Given the description of an element on the screen output the (x, y) to click on. 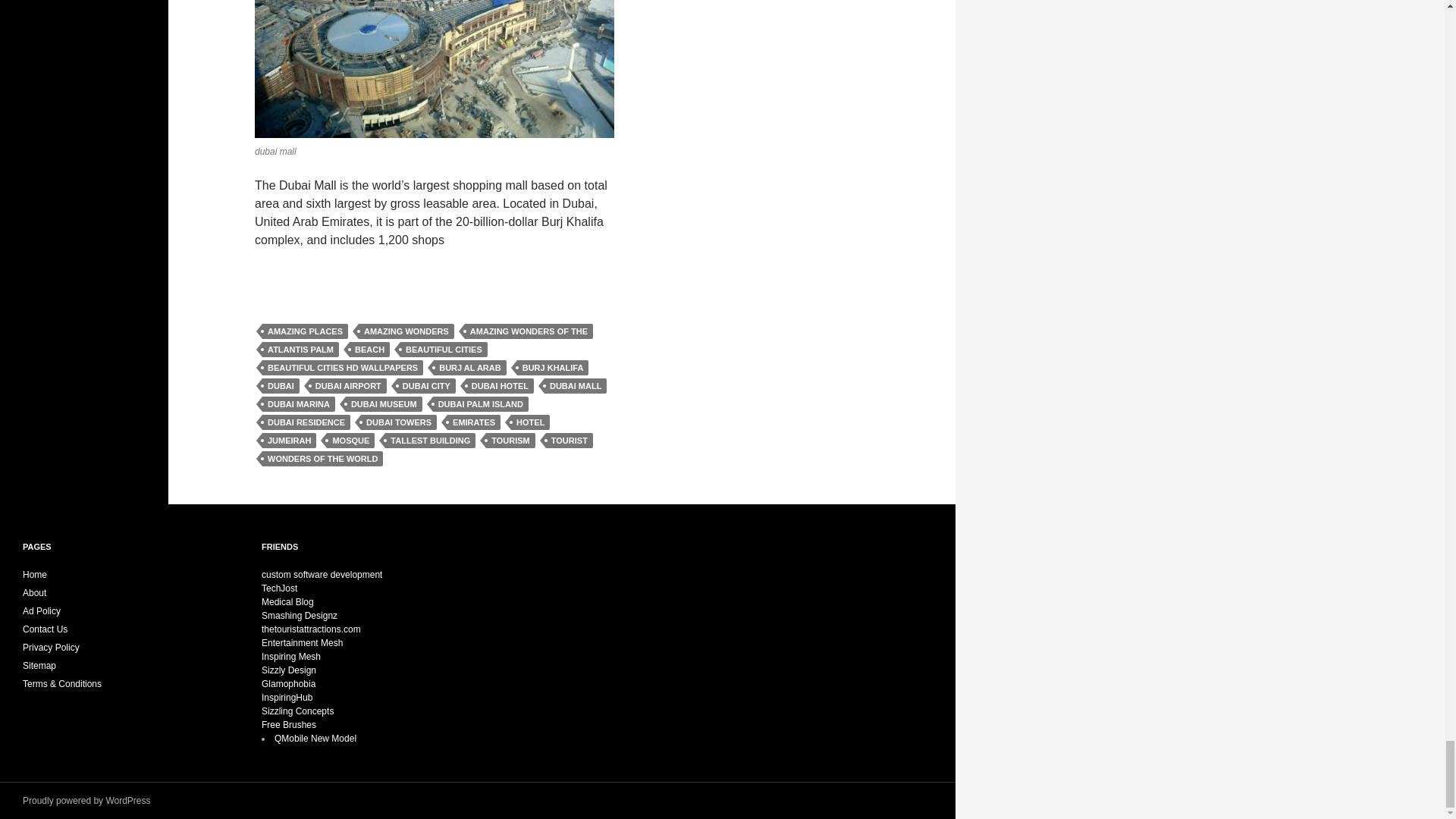
AMAZING WONDERS (406, 331)
AMAZING PLACES (304, 331)
AMAZING WONDERS OF THE (528, 331)
ATLANTIS PALM (300, 349)
